Given the description of an element on the screen output the (x, y) to click on. 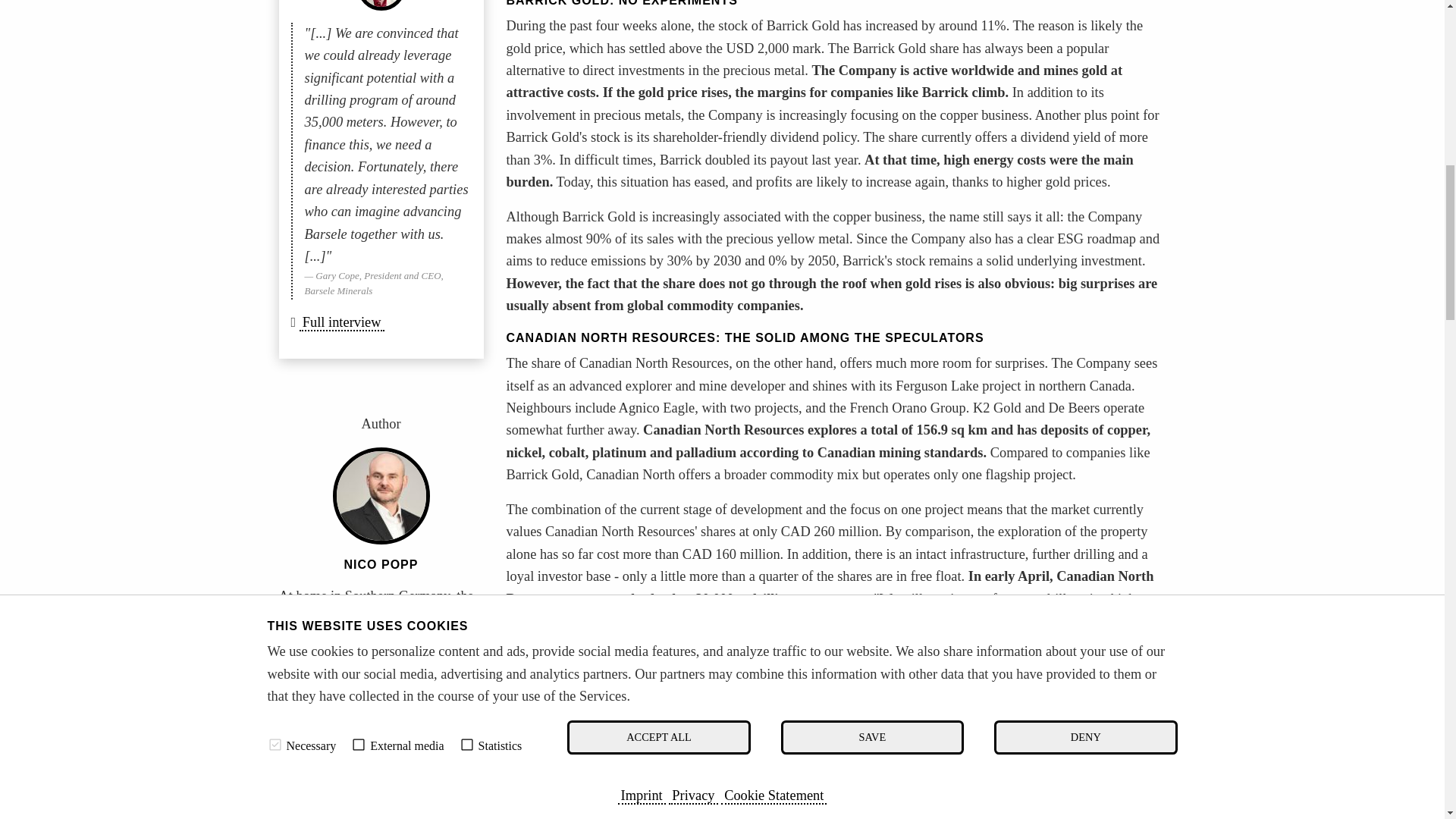
Full interview (341, 322)
Nico Popp (381, 563)
About the author (329, 787)
Nico Popp (329, 787)
Nico Popp (380, 495)
Gary Cope, President and CEO, Barsele Minerals (380, 5)
NICO POPP (381, 563)
